Given the description of an element on the screen output the (x, y) to click on. 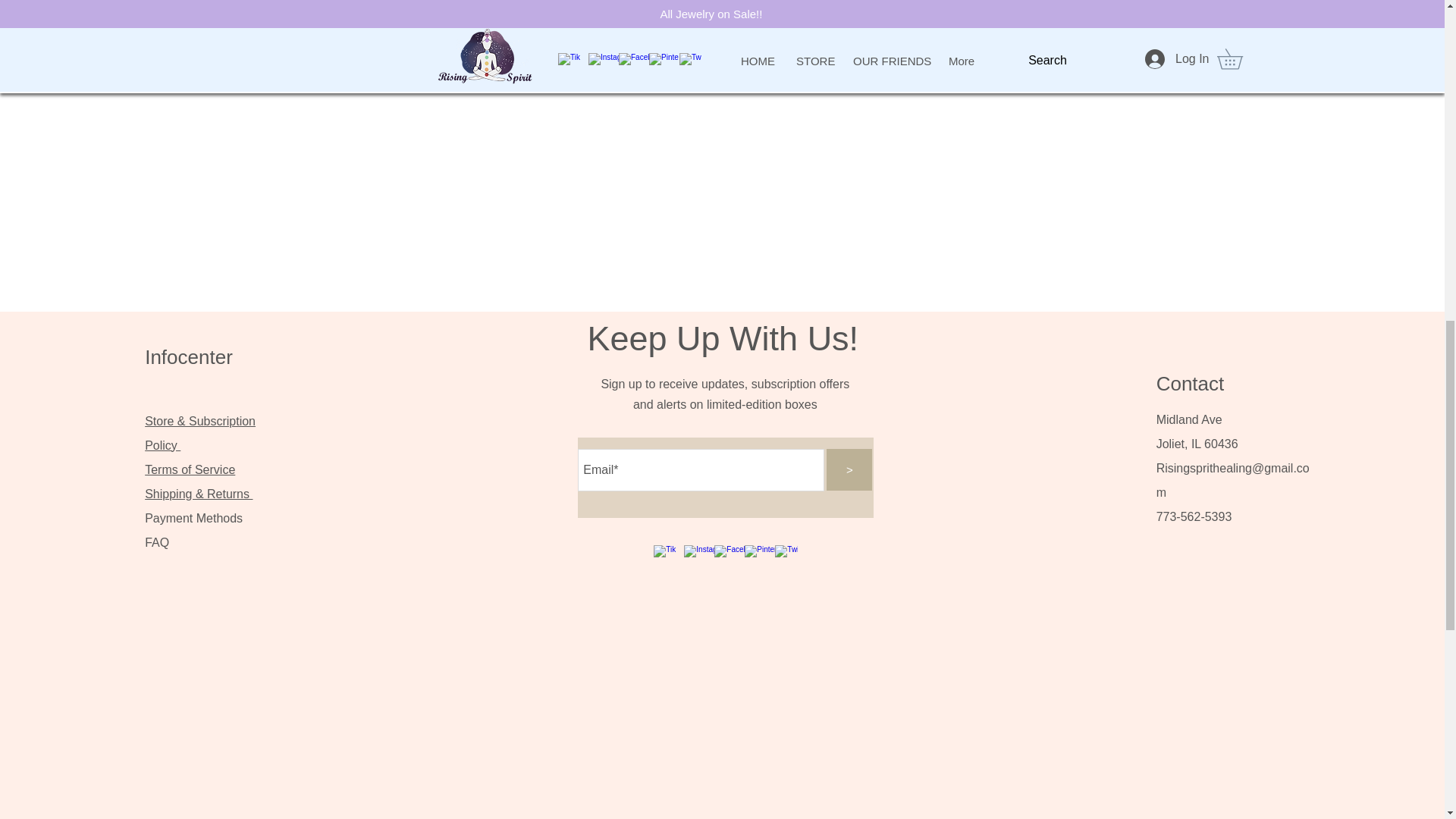
Terms of Service (189, 469)
FAQ (156, 542)
Payment Methods  (195, 517)
